Given the description of an element on the screen output the (x, y) to click on. 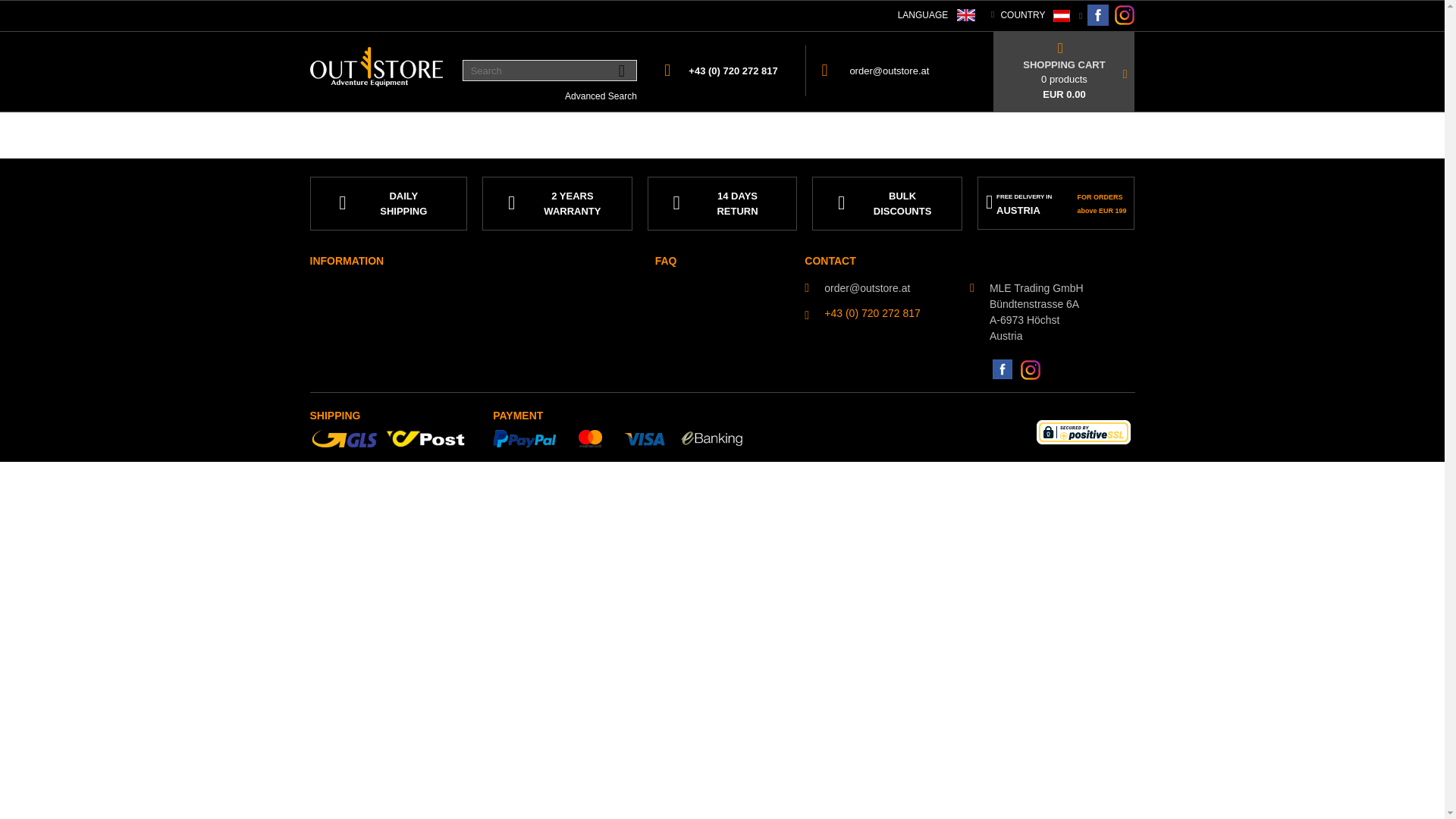
English (965, 15)
Advanced Search (600, 95)
